Given the description of an element on the screen output the (x, y) to click on. 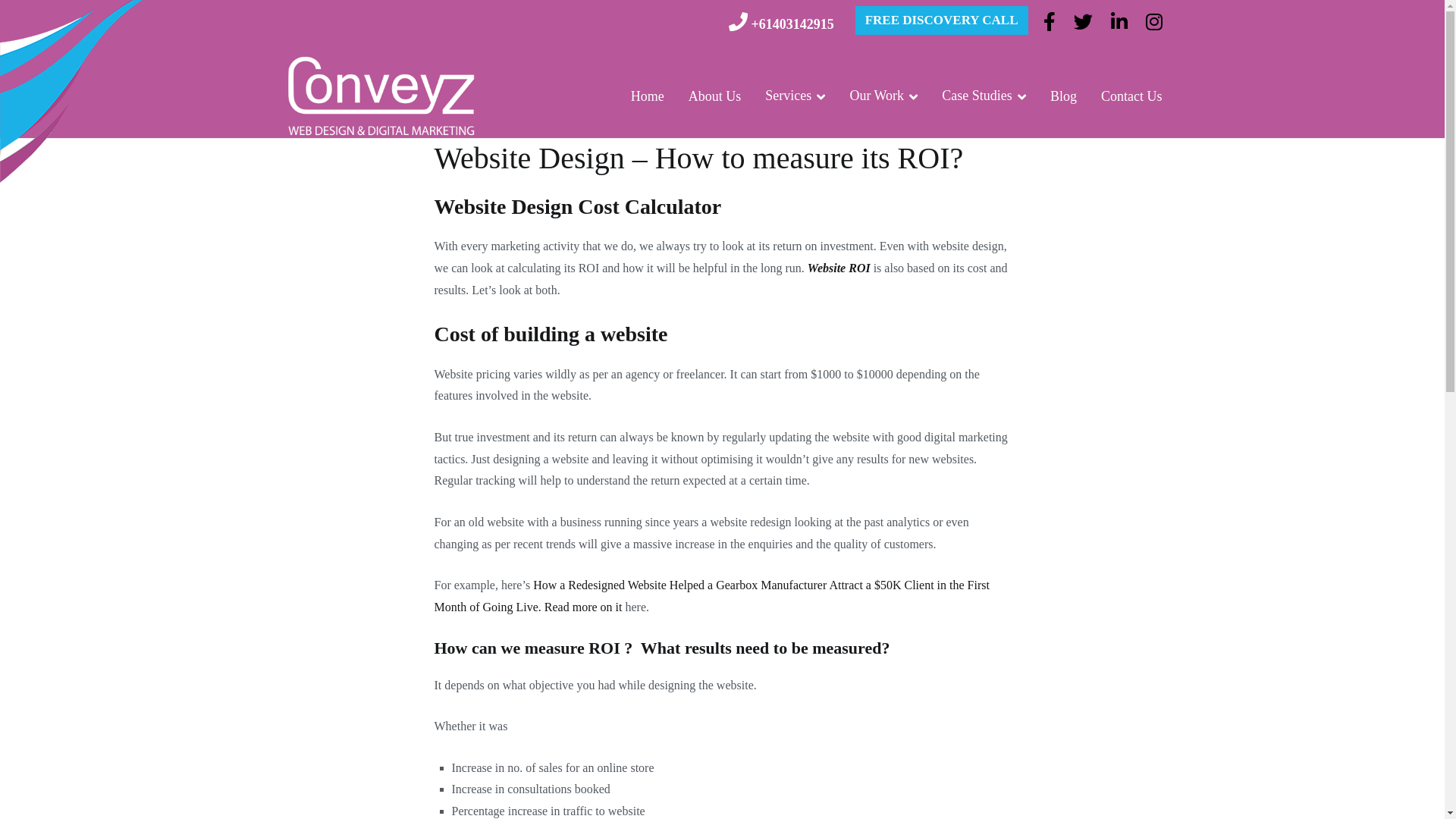
+61403142915 Element type: text (791, 23)
SEO Services in Brisbane | Web Design & Development Brisbane Element type: text (683, 106)
About Us Element type: text (714, 96)
Blog Element type: text (1063, 96)
Home Element type: text (647, 96)
Contact Us Element type: text (1131, 96)
FREE DISCOVERY CALL Element type: text (941, 19)
Website ROI Element type: text (838, 267)
Our Work Element type: text (883, 96)
Services Element type: text (795, 96)
Case Studies Element type: text (983, 96)
